Given the description of an element on the screen output the (x, y) to click on. 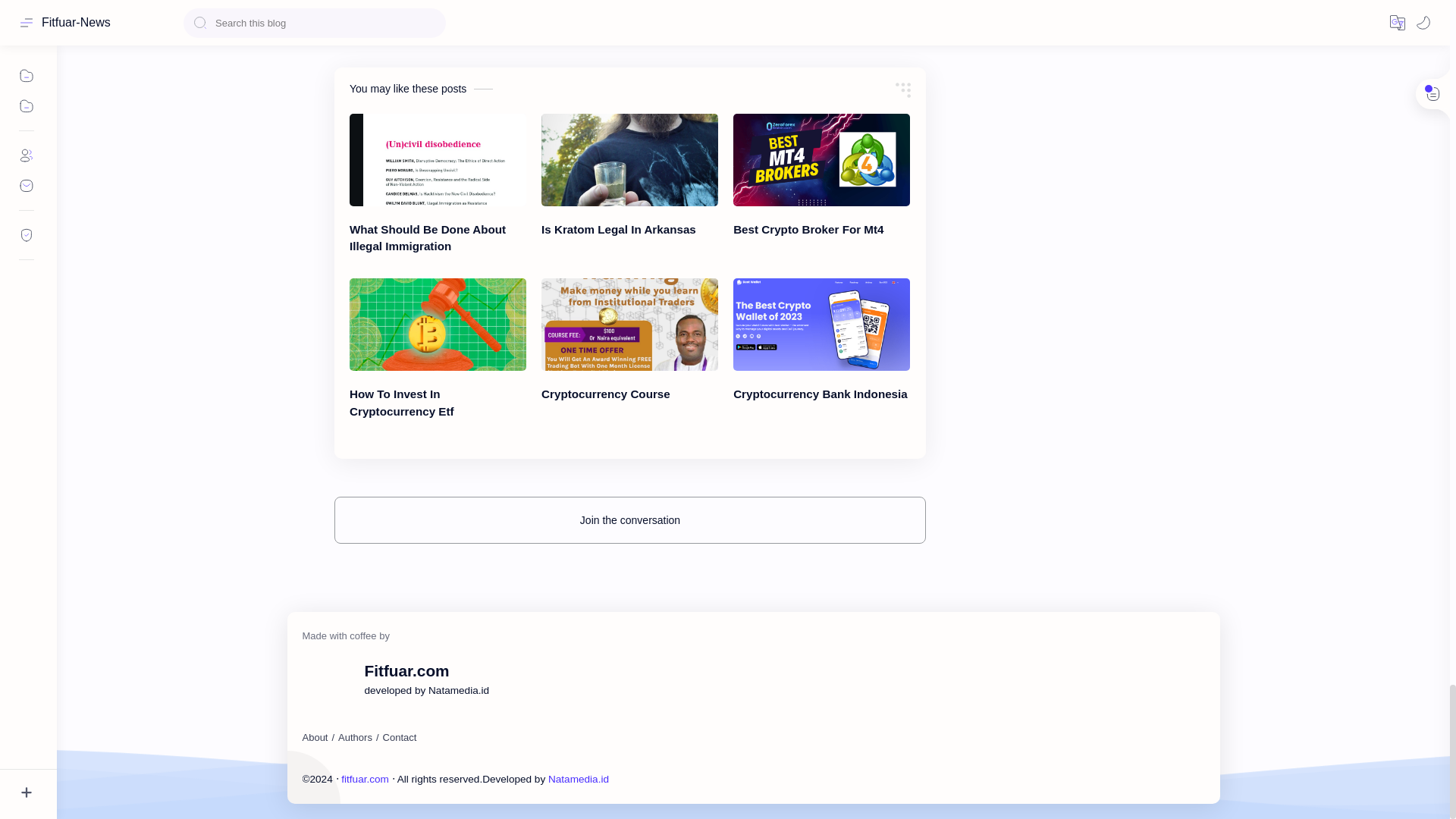
What Should Be Done About Illegal Immigration (437, 159)
Cryptocurrency Bank Indonesia (821, 324)
Is Kratom Legal In Arkansas (629, 159)
How To Invest In Cryptocurrency Etf (437, 324)
Best Crypto Broker For Mt4 (821, 159)
Cryptocurrency Course (629, 324)
